Given the description of an element on the screen output the (x, y) to click on. 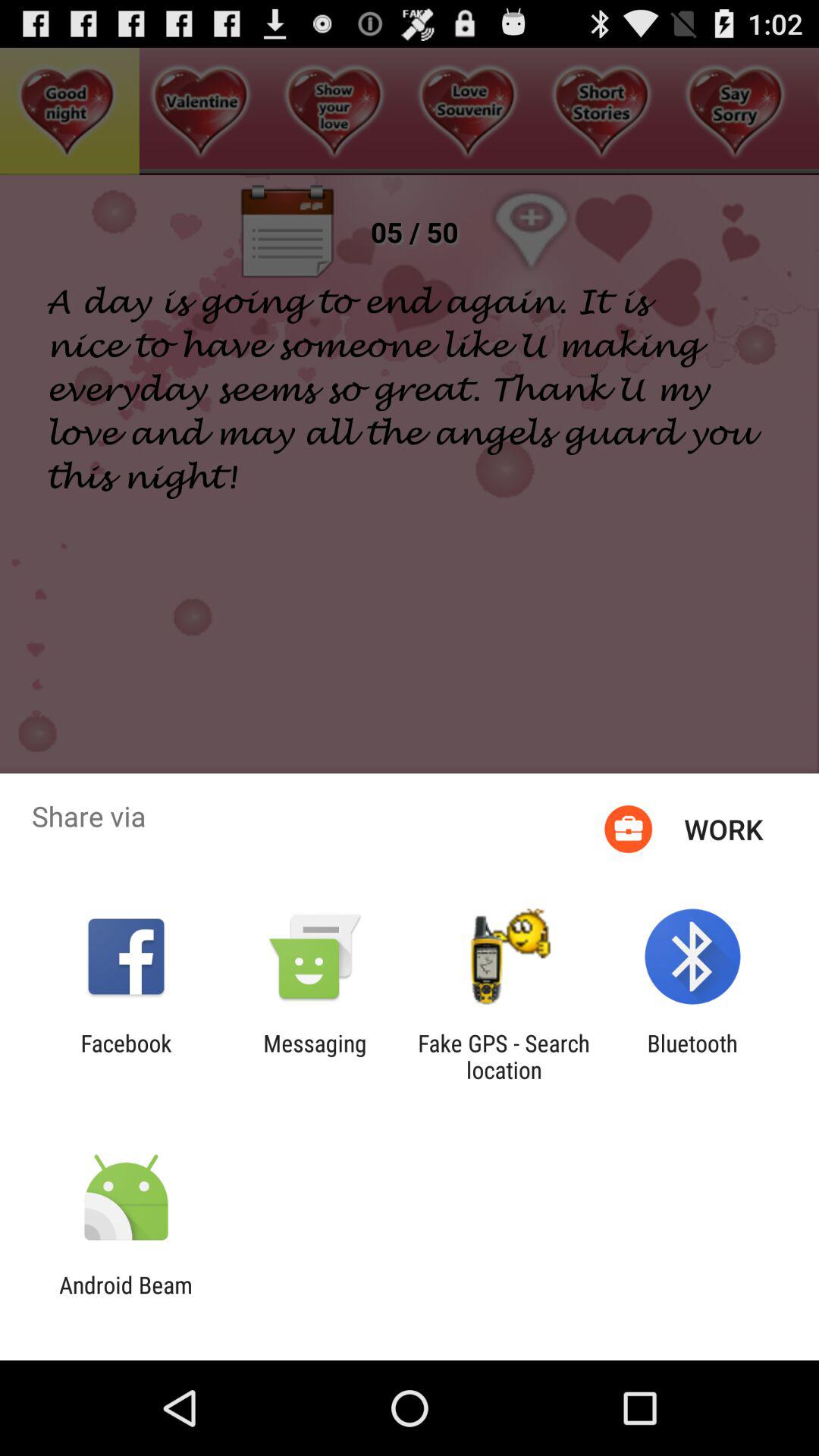
launch fake gps search app (503, 1056)
